Given the description of an element on the screen output the (x, y) to click on. 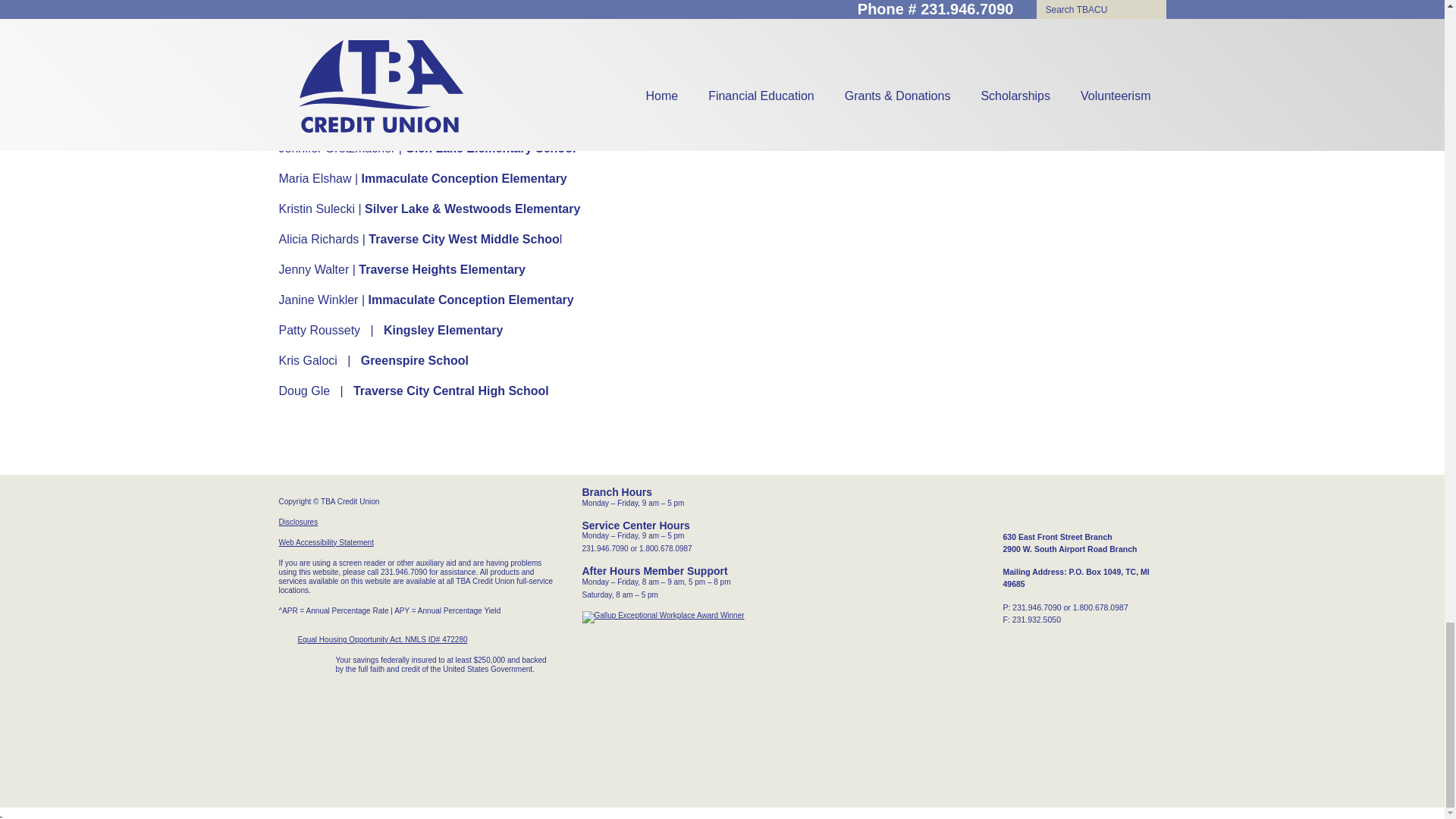
Disclosures (298, 521)
facebook (1059, 508)
Web Accessibility Statement (326, 542)
instagram (1081, 508)
youtube (1104, 508)
